Given the description of an element on the screen output the (x, y) to click on. 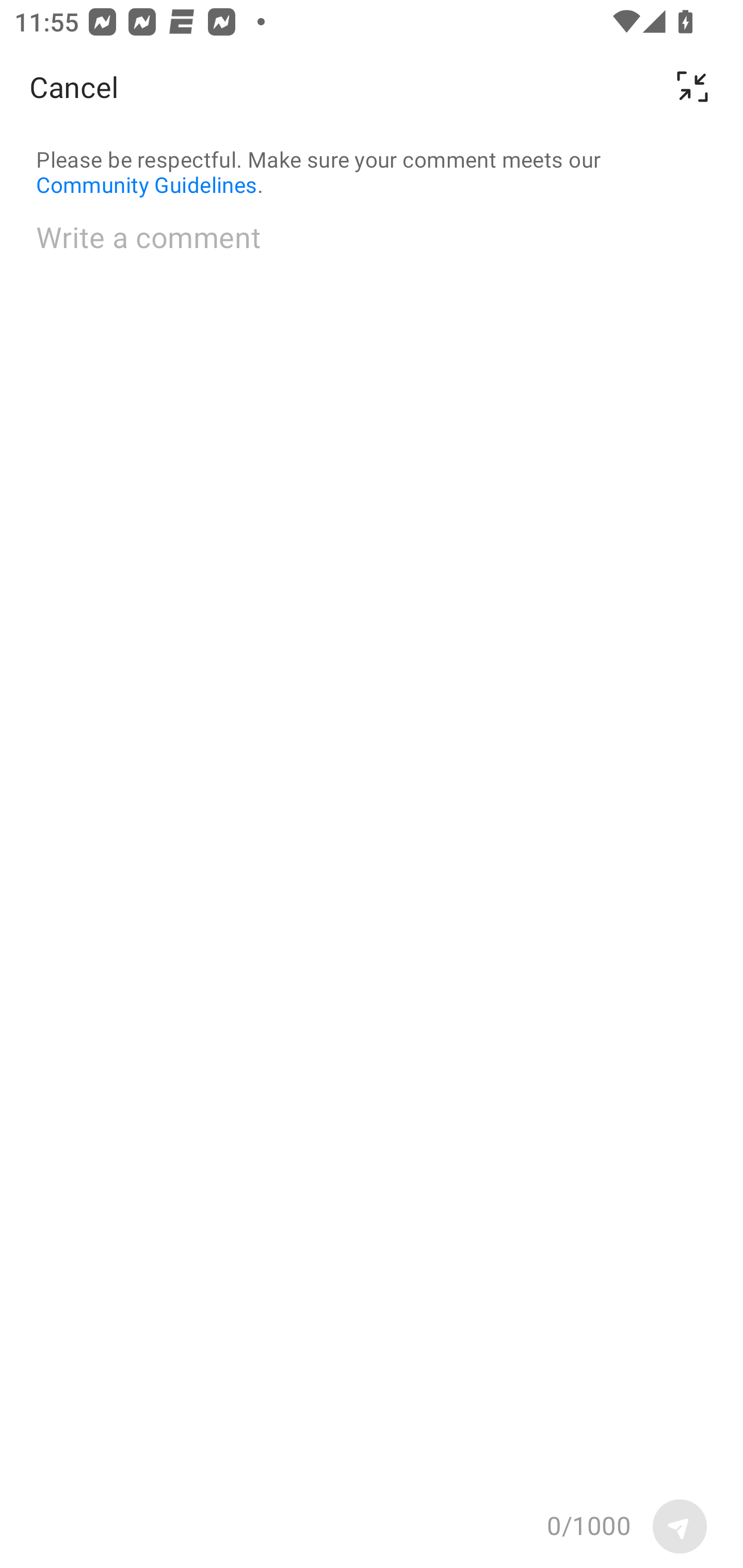
Cancel (73, 86)
Write a comment (371, 850)
